Given the description of an element on the screen output the (x, y) to click on. 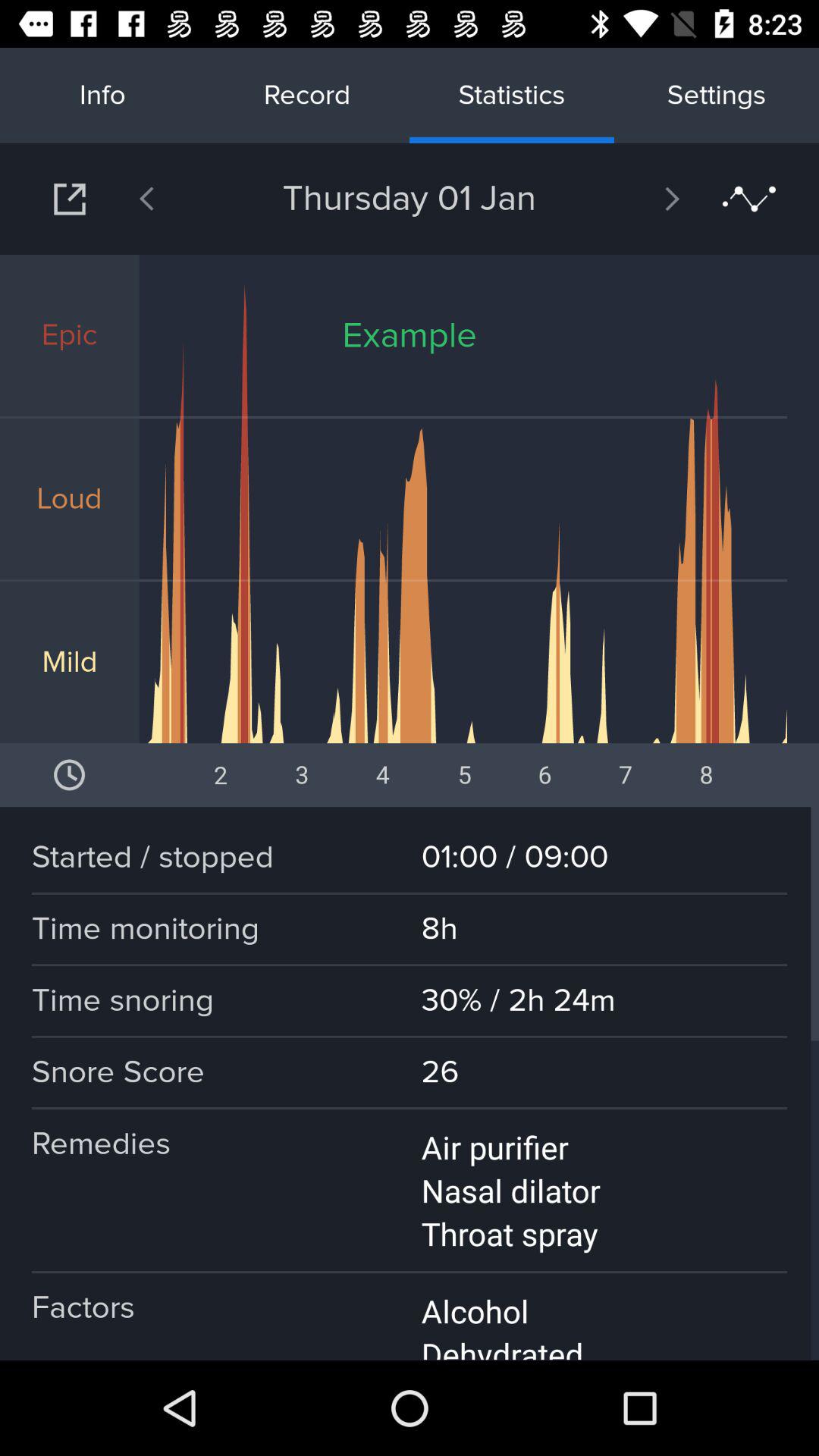
turn off the item next to thursday 01 jan icon (186, 198)
